Given the description of an element on the screen output the (x, y) to click on. 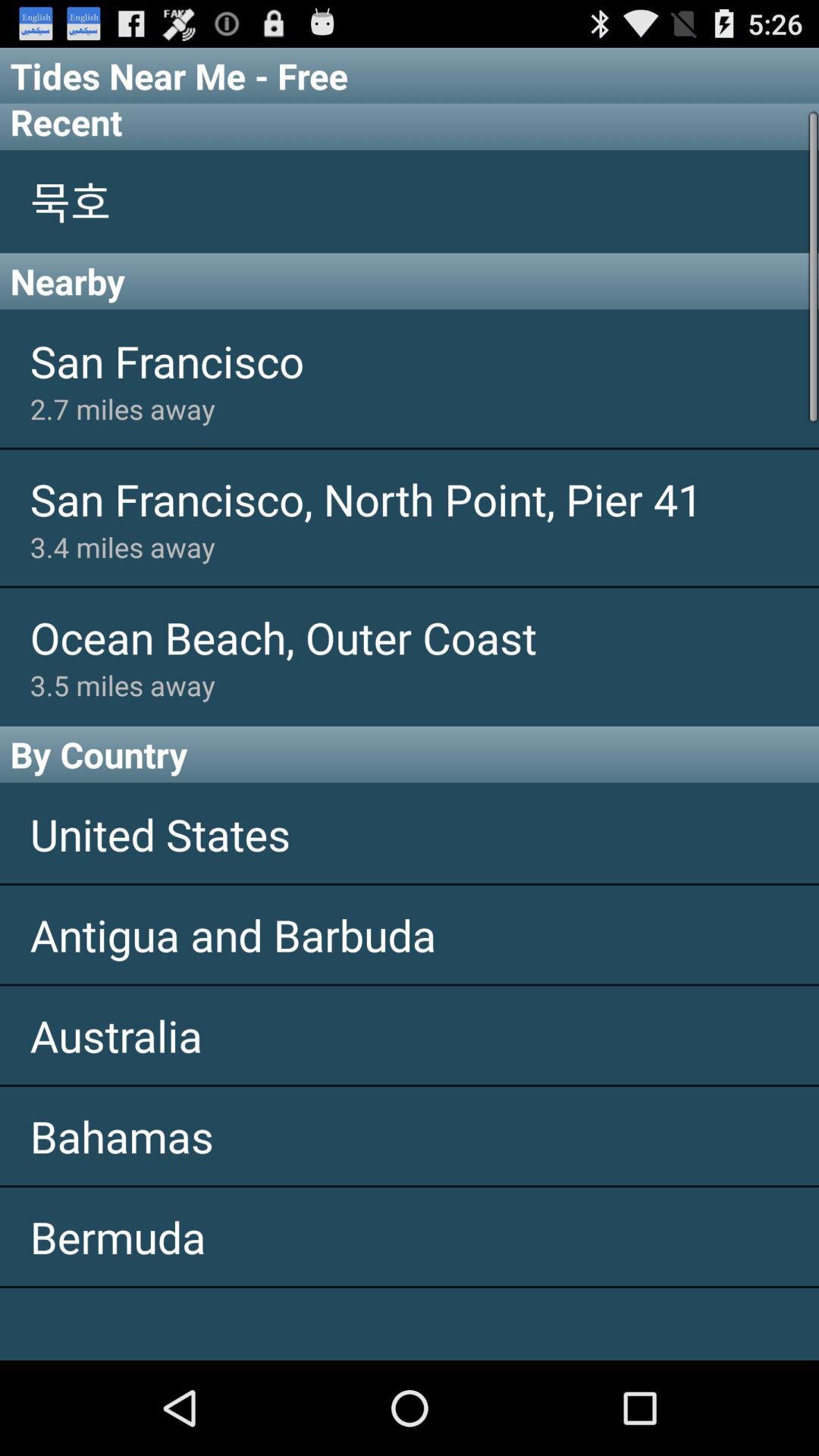
select the icon below recent (409, 201)
